Given the description of an element on the screen output the (x, y) to click on. 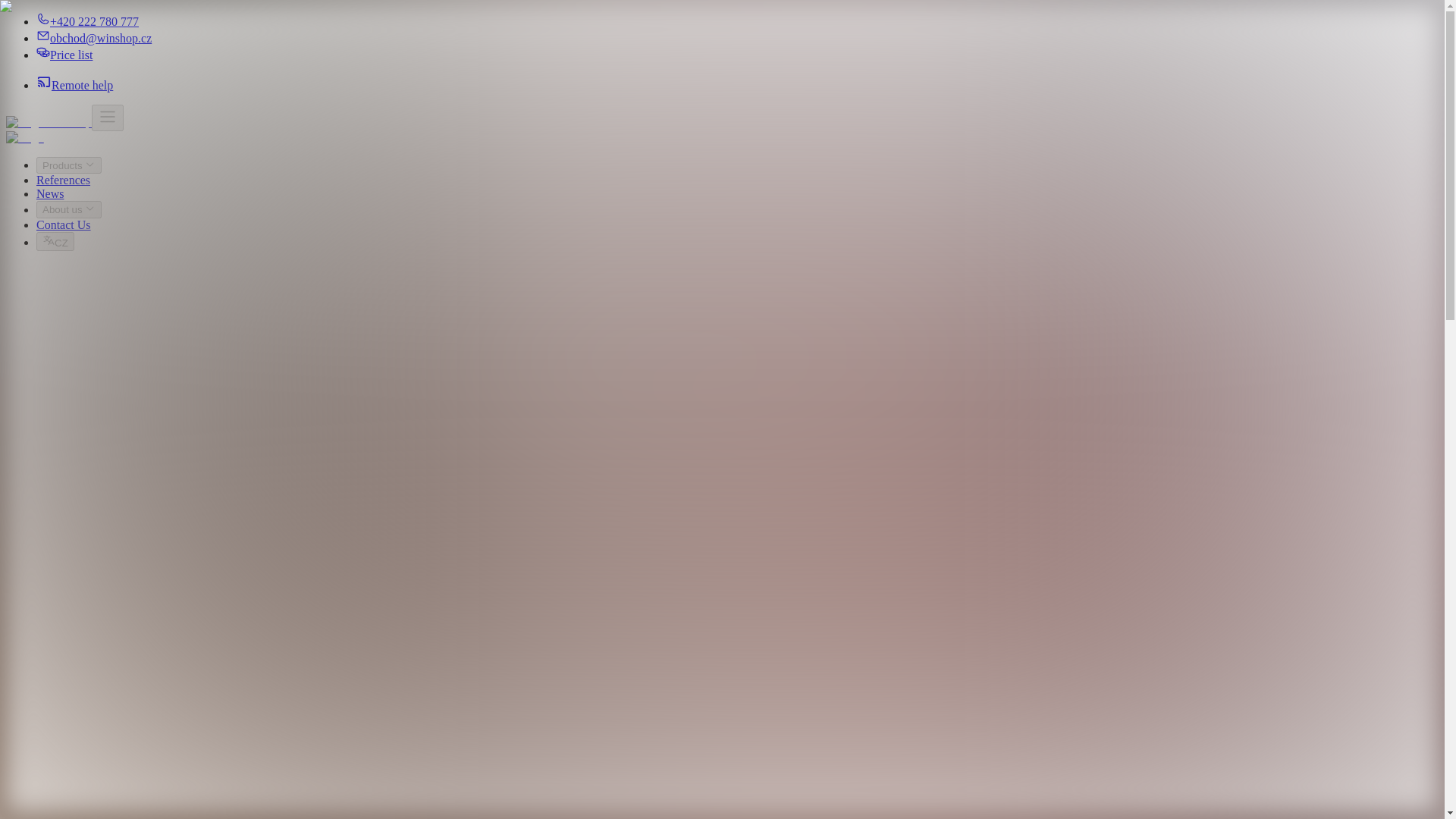
About us (68, 209)
Products (68, 165)
Remote help (74, 84)
Contact Us (63, 224)
About us (68, 208)
Products (68, 164)
References (63, 179)
CZ (55, 240)
News (50, 193)
Price list (64, 54)
